Given the description of an element on the screen output the (x, y) to click on. 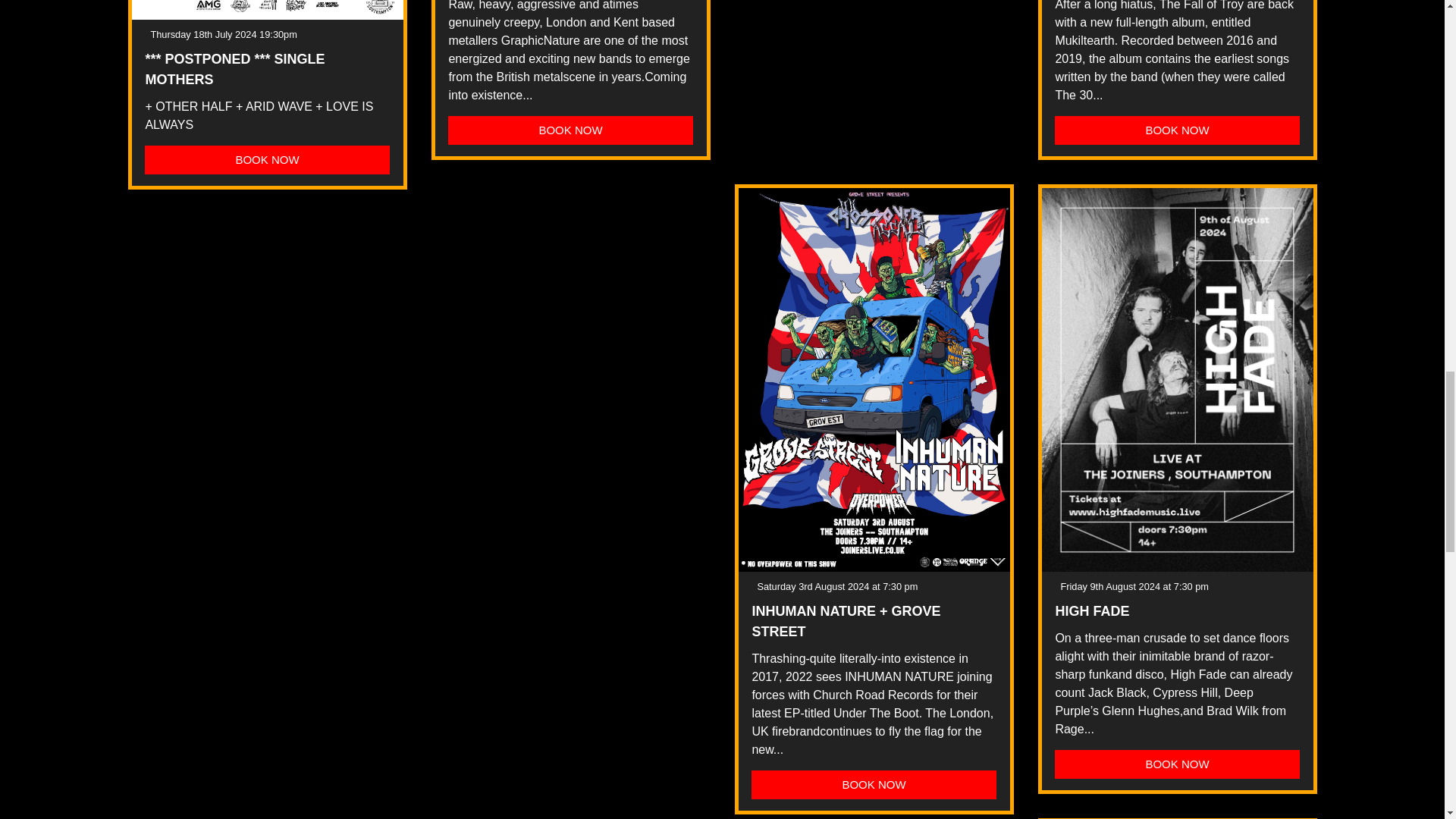
BOOK NOW (873, 784)
BOOK NOW (570, 130)
BOOK NOW (266, 159)
